Given the description of an element on the screen output the (x, y) to click on. 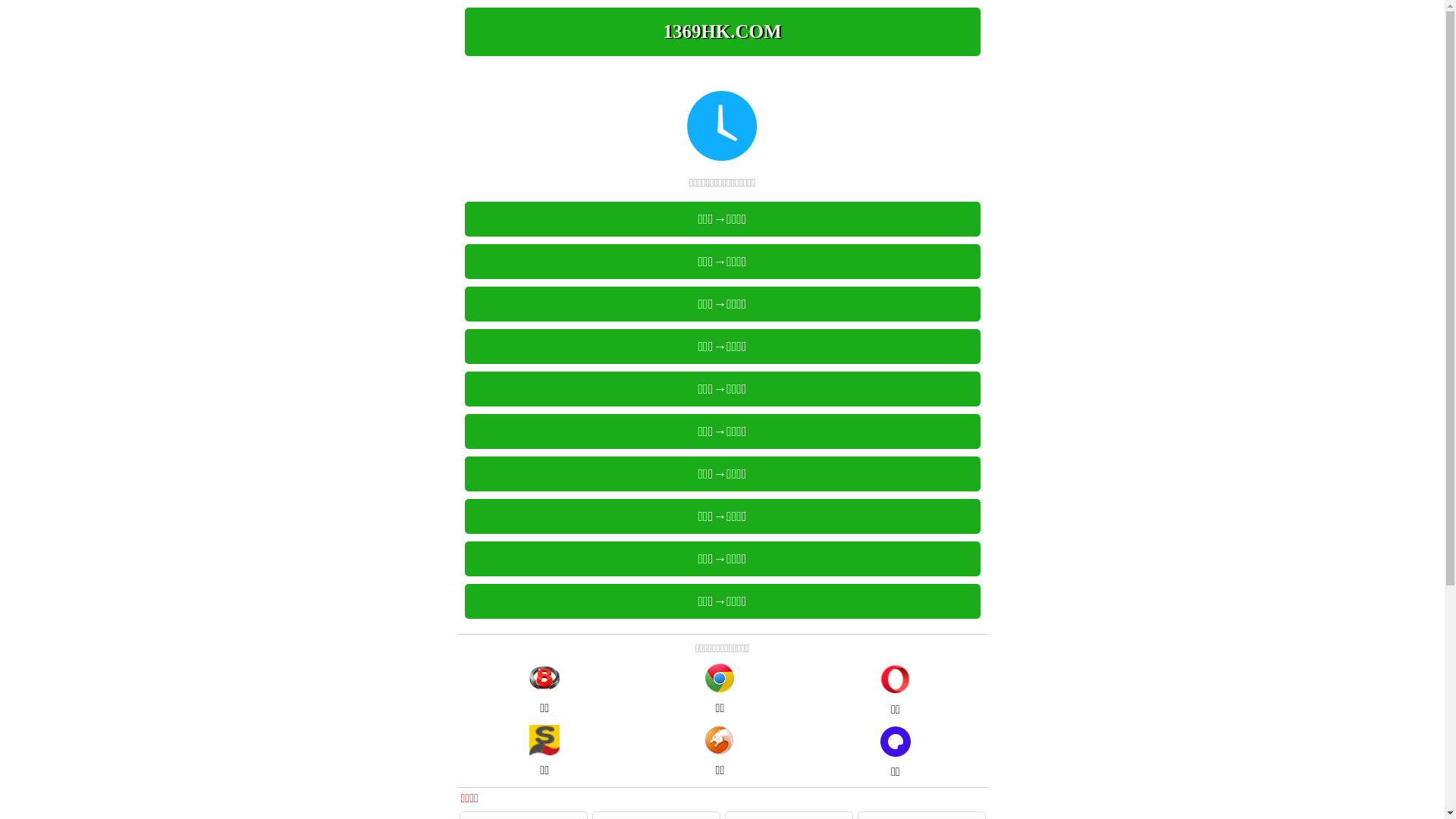
1369HK.COM Element type: text (721, 31)
